Given the description of an element on the screen output the (x, y) to click on. 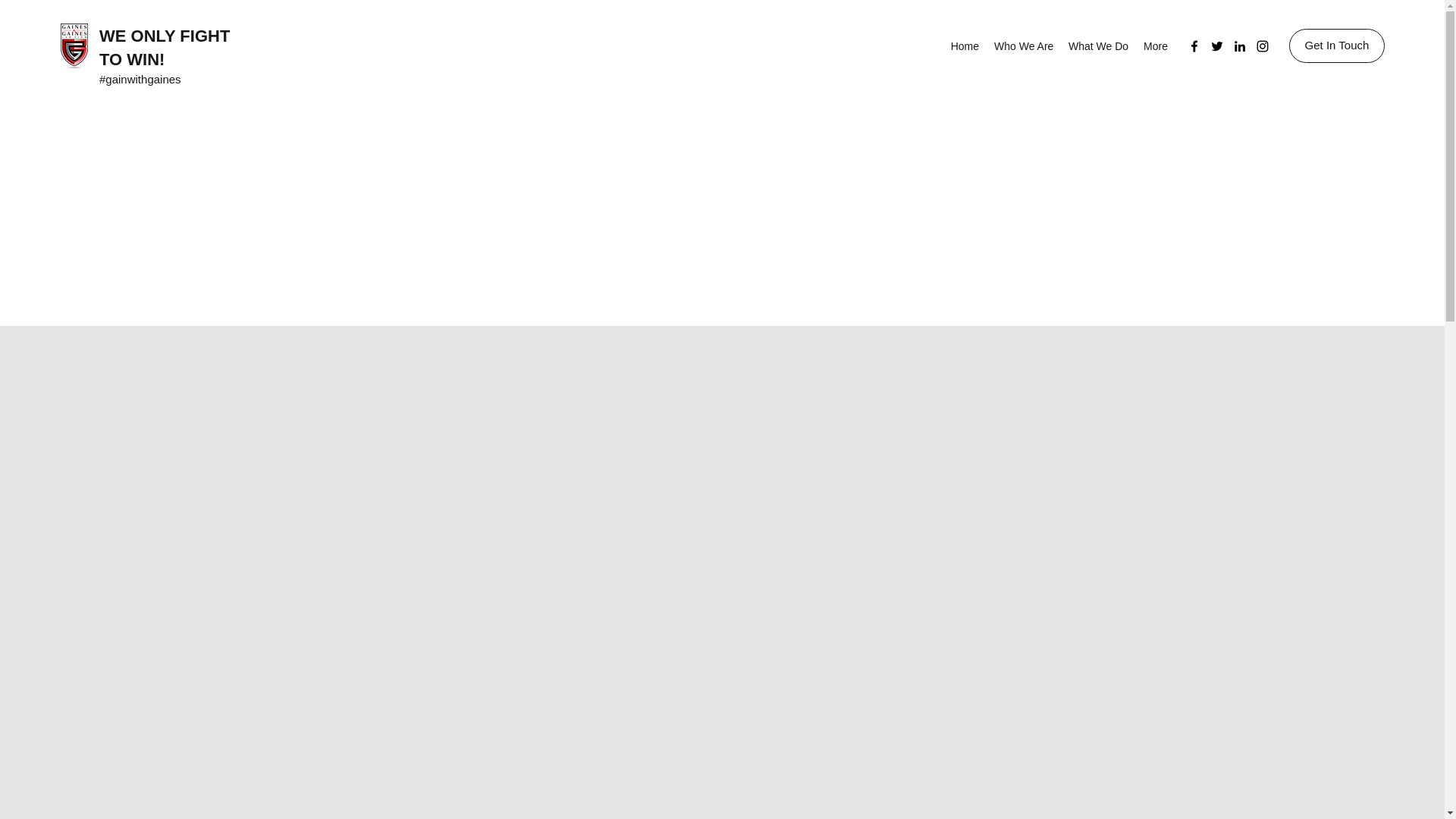
Get In Touch (1336, 45)
What We Do (1098, 46)
Home (964, 46)
Who We Are (1024, 46)
